Given the description of an element on the screen output the (x, y) to click on. 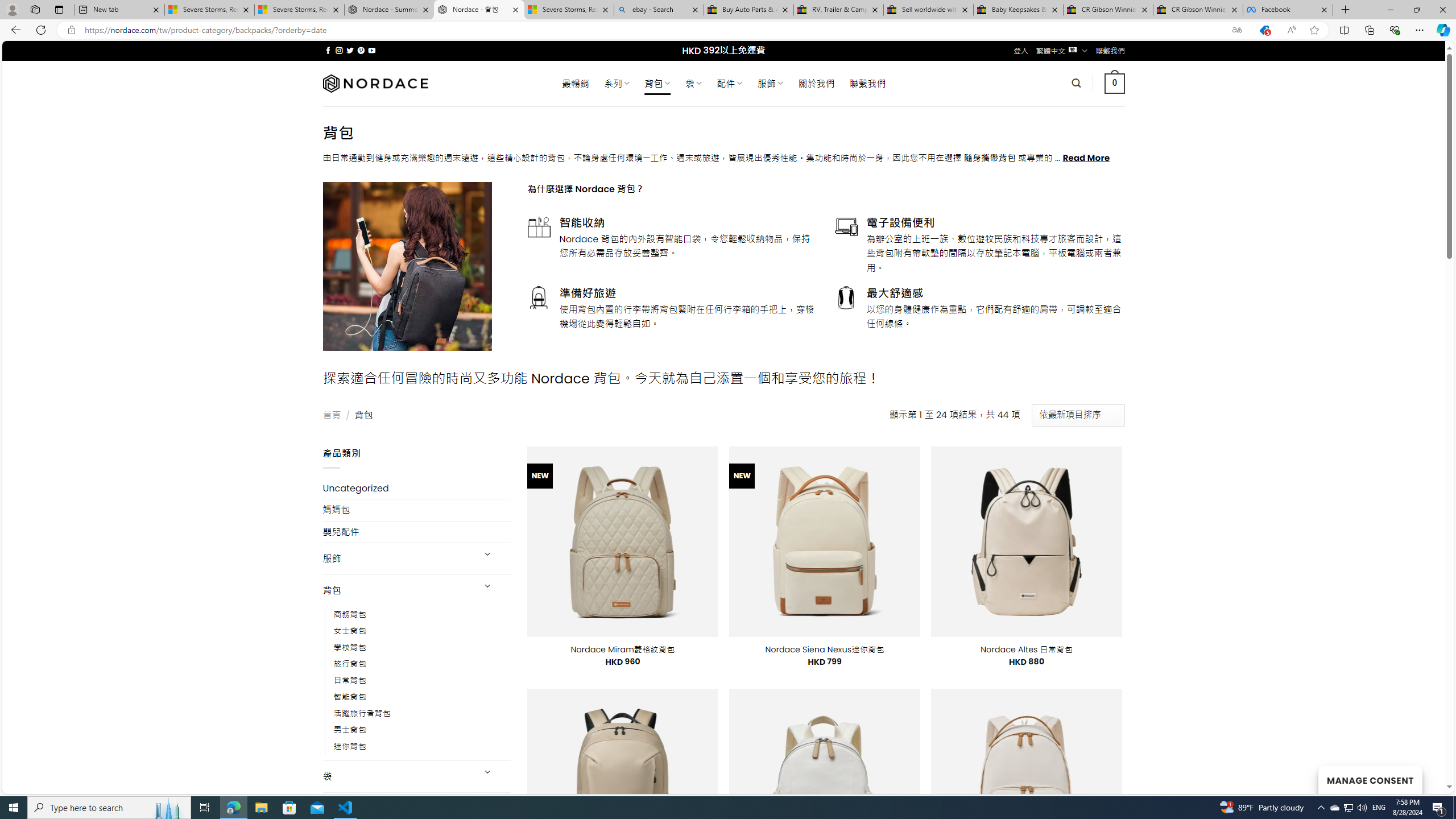
Show translate options (1236, 29)
Close (1442, 9)
Follow on YouTube (371, 50)
RV, Trailer & Camper Steps & Ladders for sale | eBay (838, 9)
  0   (1115, 83)
Nordace - Summer Adventures 2024 (389, 9)
